Given the description of an element on the screen output the (x, y) to click on. 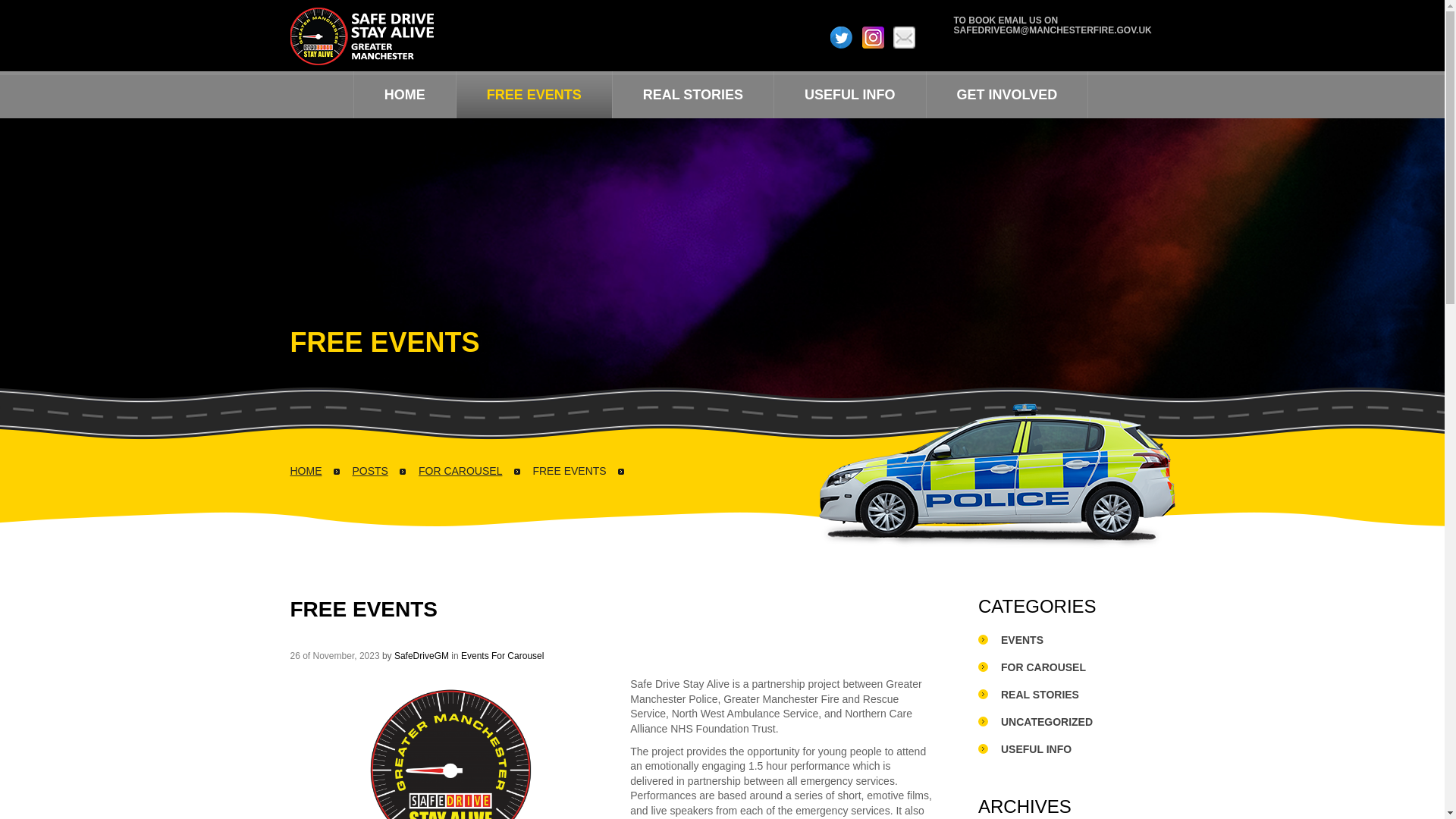
Posts by SafeDriveGM (421, 655)
twitter (840, 37)
instagram (872, 37)
New (1006, 94)
HOME (404, 94)
